Given the description of an element on the screen output the (x, y) to click on. 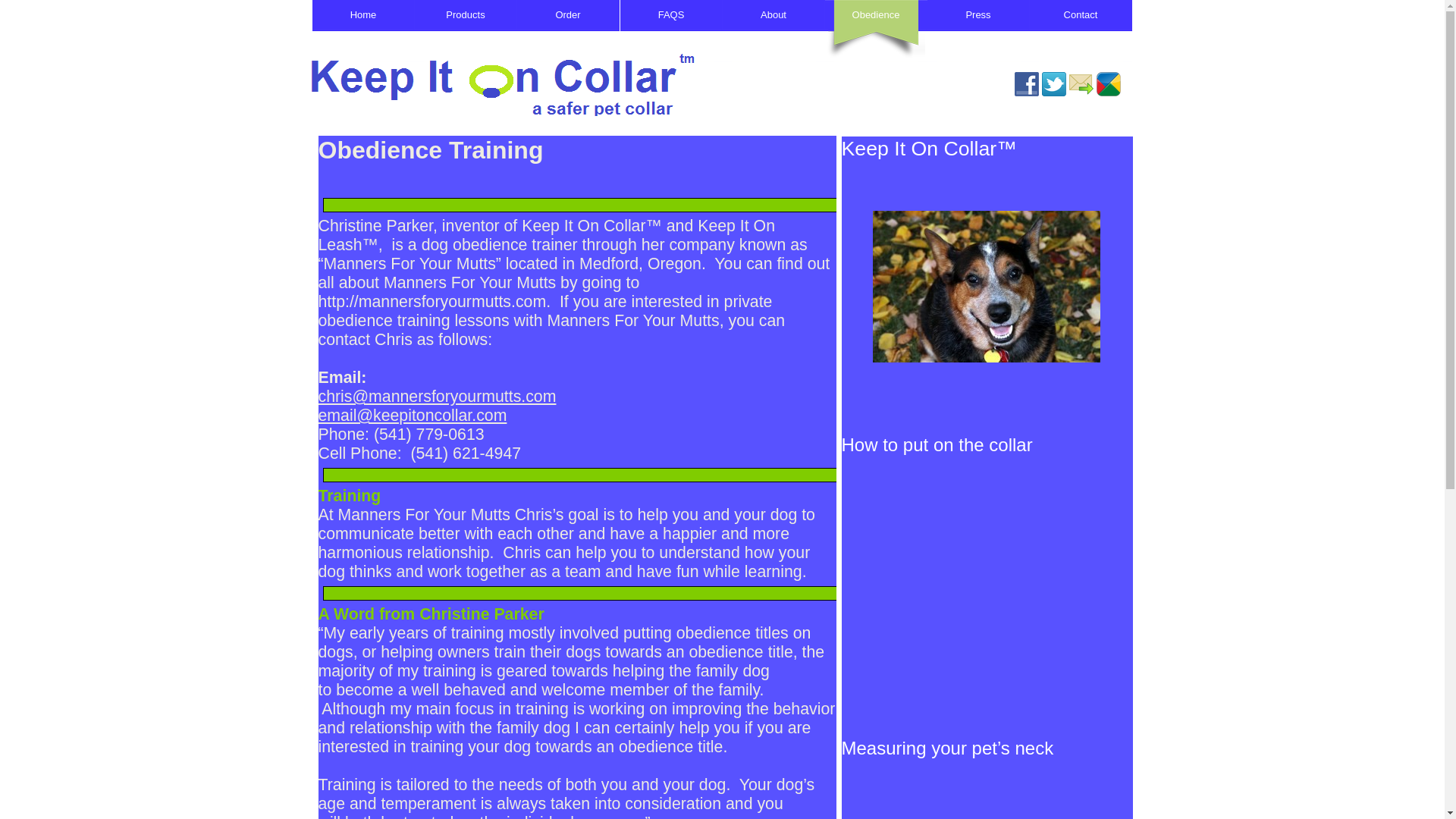
About (773, 31)
Press (977, 31)
Share on Facebook (1026, 84)
Obedience (876, 31)
Share on Google Bookmarks (1108, 84)
Contact (1080, 31)
FAQS (671, 31)
Share via e-mail (1080, 84)
Home (363, 31)
Order (568, 31)
